Given the description of an element on the screen output the (x, y) to click on. 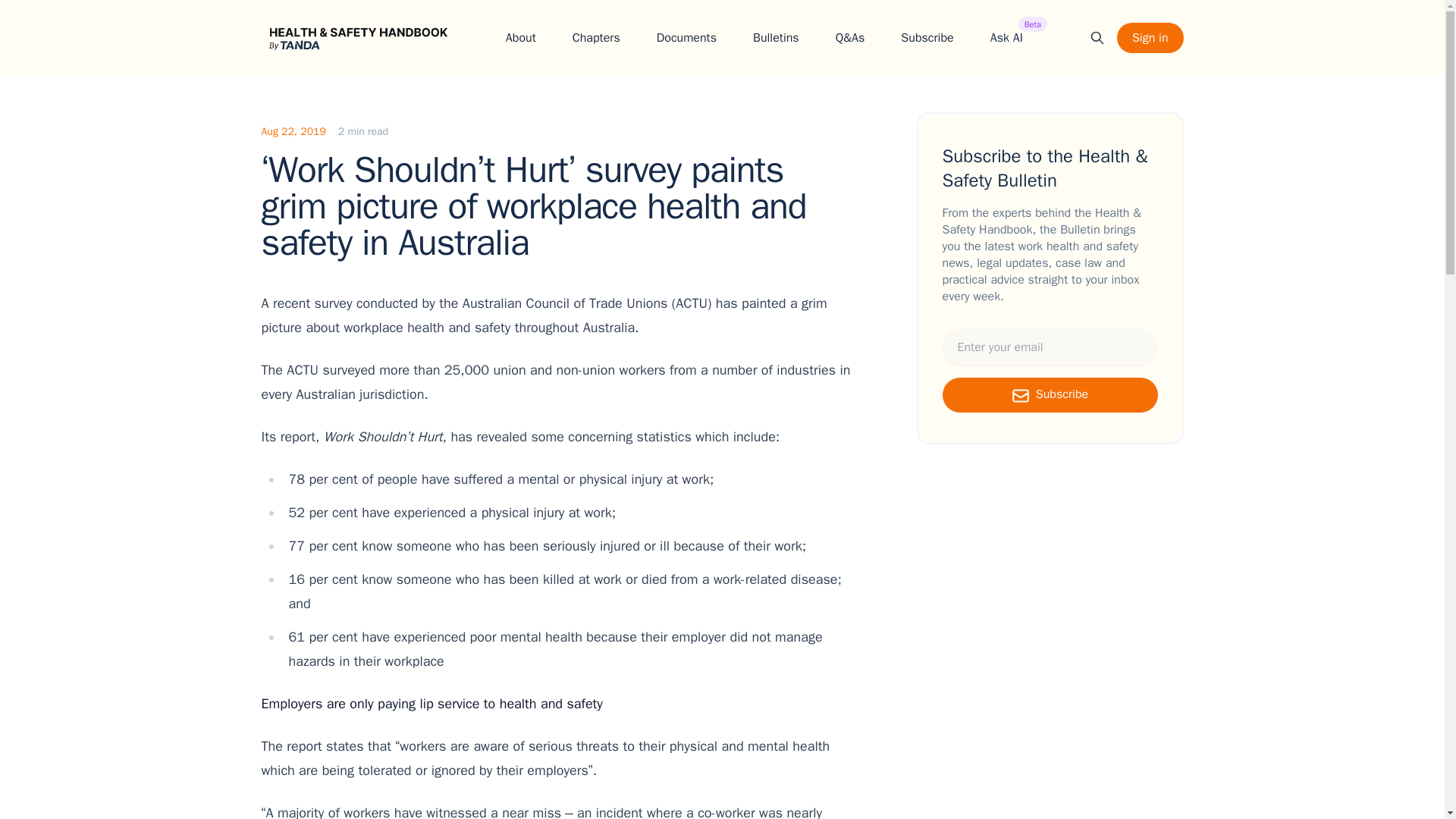
Subscribe (927, 37)
Sign in (1149, 37)
About (1006, 37)
Chapters (520, 37)
Documents (596, 37)
Bulletins (686, 37)
Subscribe (775, 37)
